Given the description of an element on the screen output the (x, y) to click on. 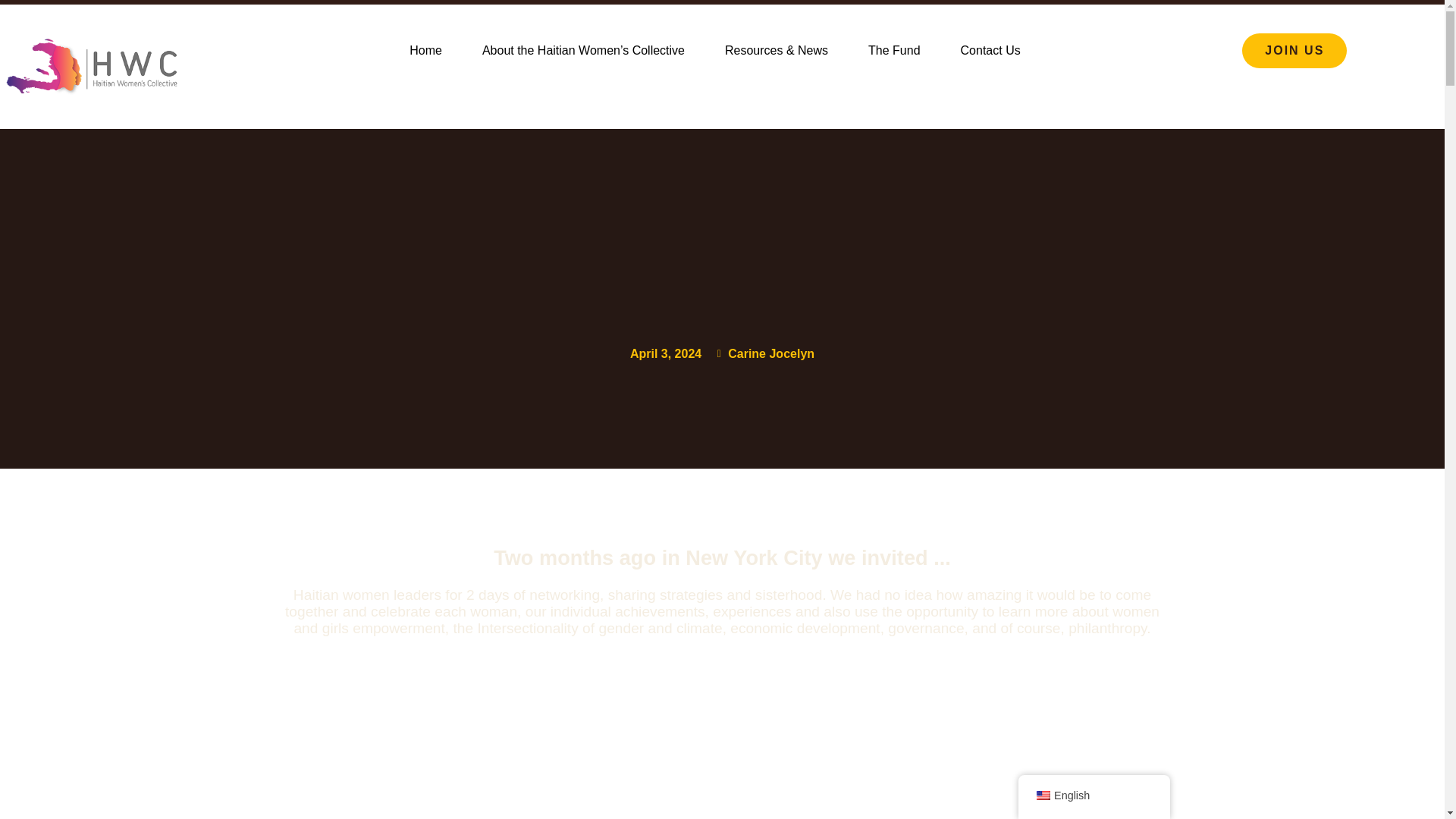
JOIN US (1293, 50)
English (1042, 795)
Carine Jocelyn (763, 353)
The Fund (893, 50)
Contact Us (989, 50)
Home (425, 50)
